Given the description of an element on the screen output the (x, y) to click on. 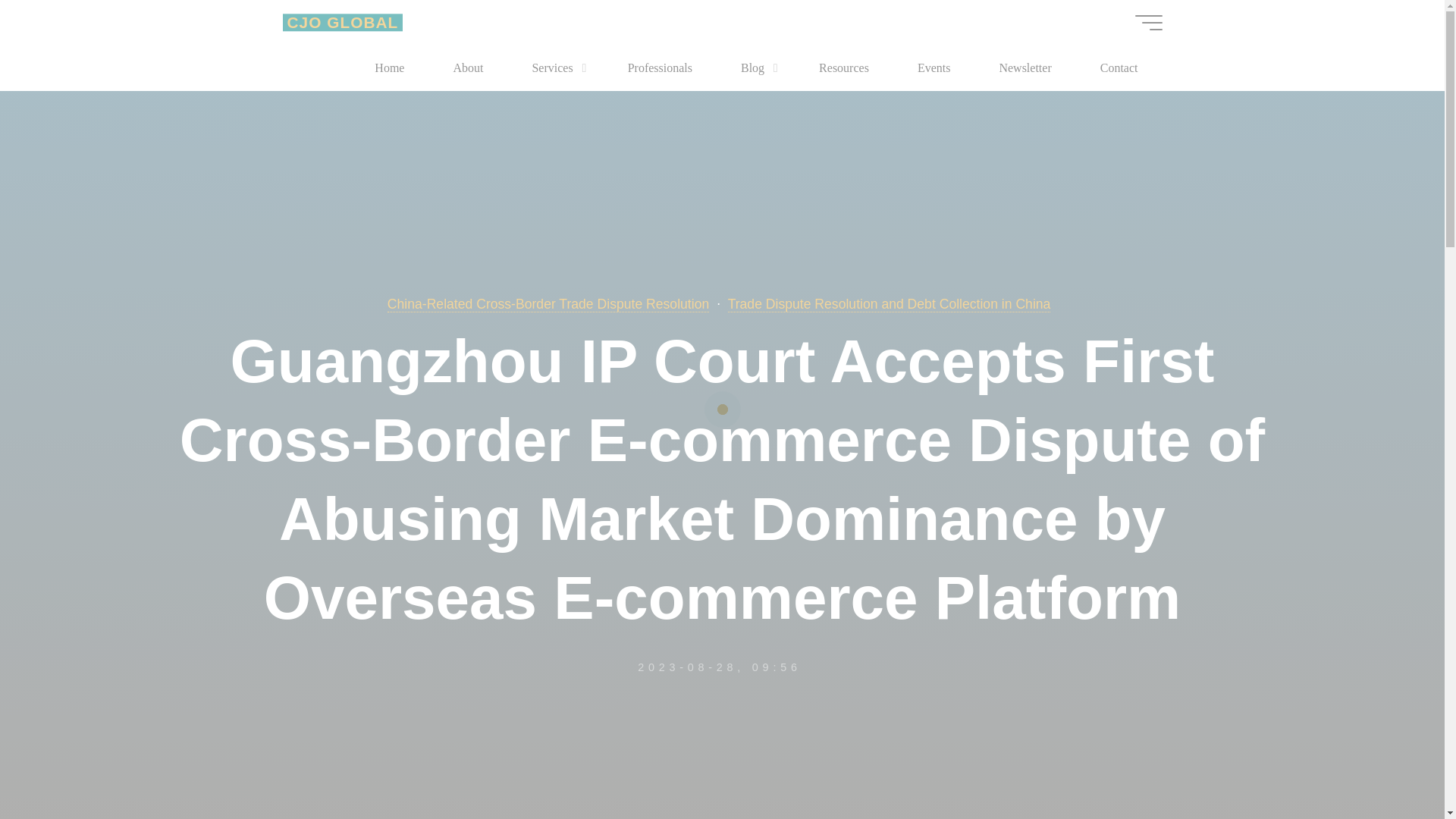
CJO GLOBAL (342, 22)
Services (554, 67)
Read more (721, 812)
Home (389, 67)
About (467, 67)
